Given the description of an element on the screen output the (x, y) to click on. 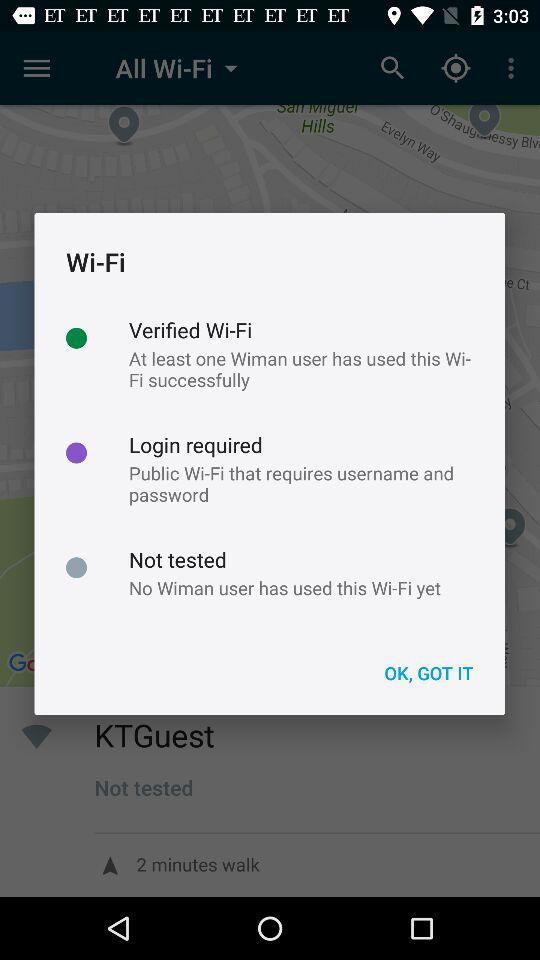
open the icon below no wiman user (428, 672)
